Given the description of an element on the screen output the (x, y) to click on. 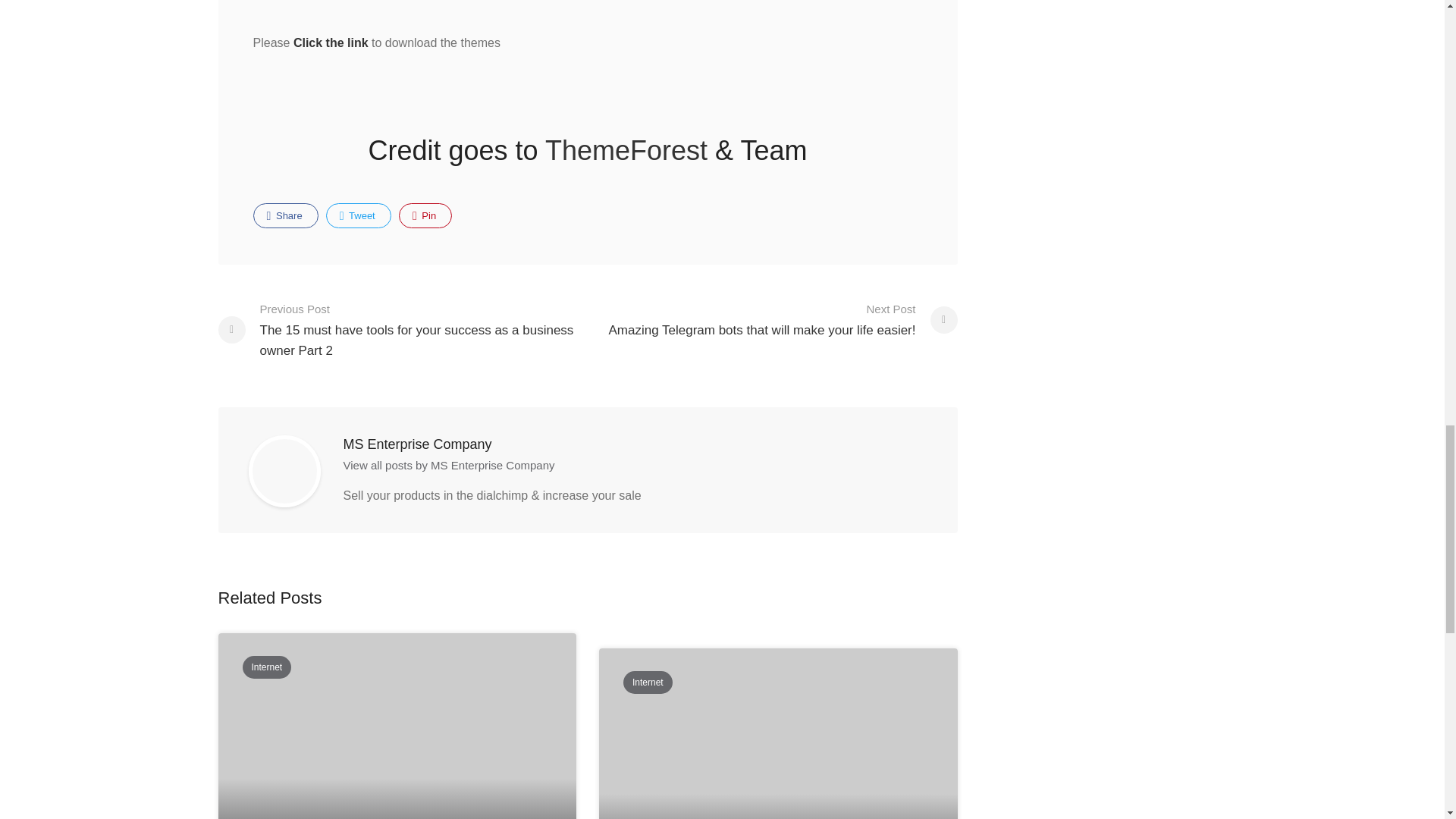
Twitter (358, 215)
